Given the description of an element on the screen output the (x, y) to click on. 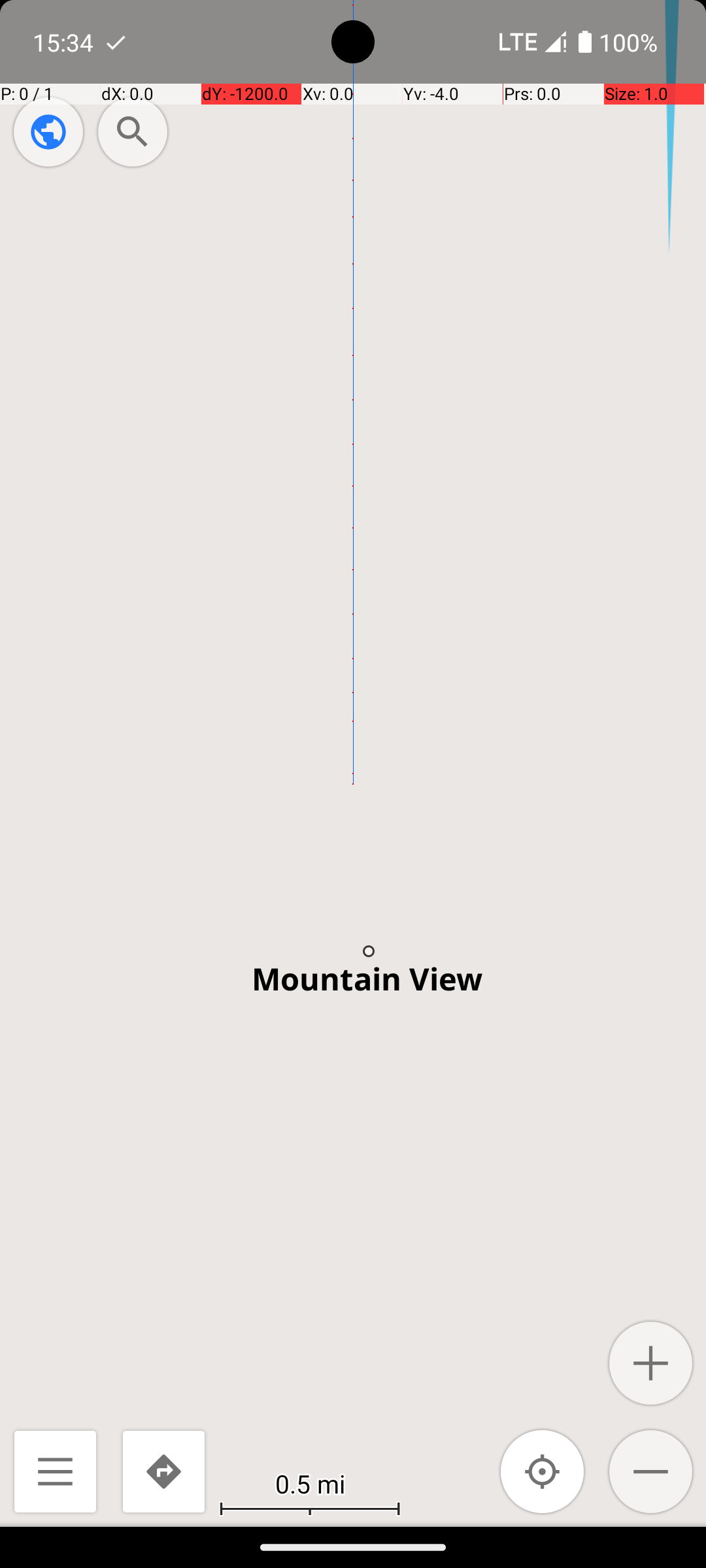
0.5 mi Element type: android.widget.TextView (309, 1483)
